Given the description of an element on the screen output the (x, y) to click on. 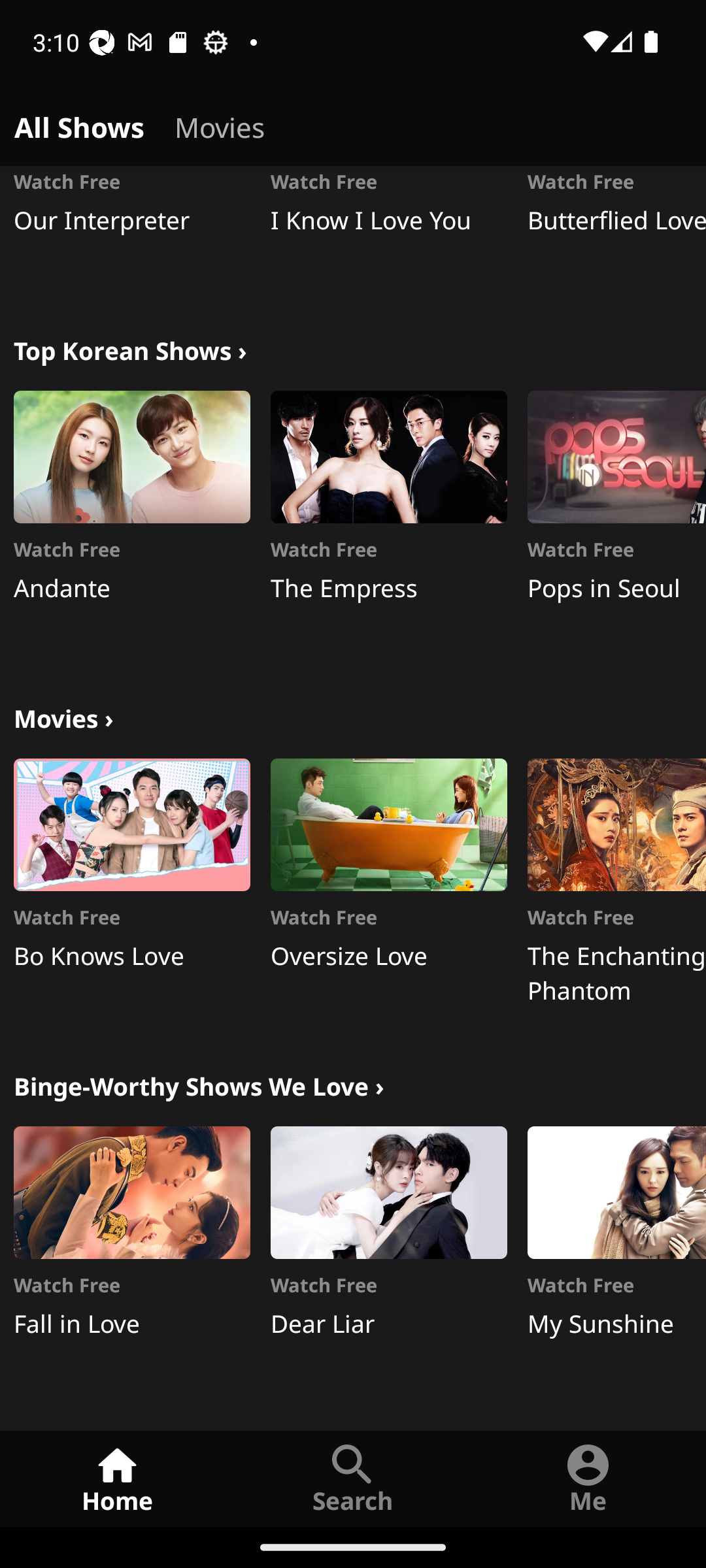
Search (352, 1478)
Me (588, 1478)
